Given the description of an element on the screen output the (x, y) to click on. 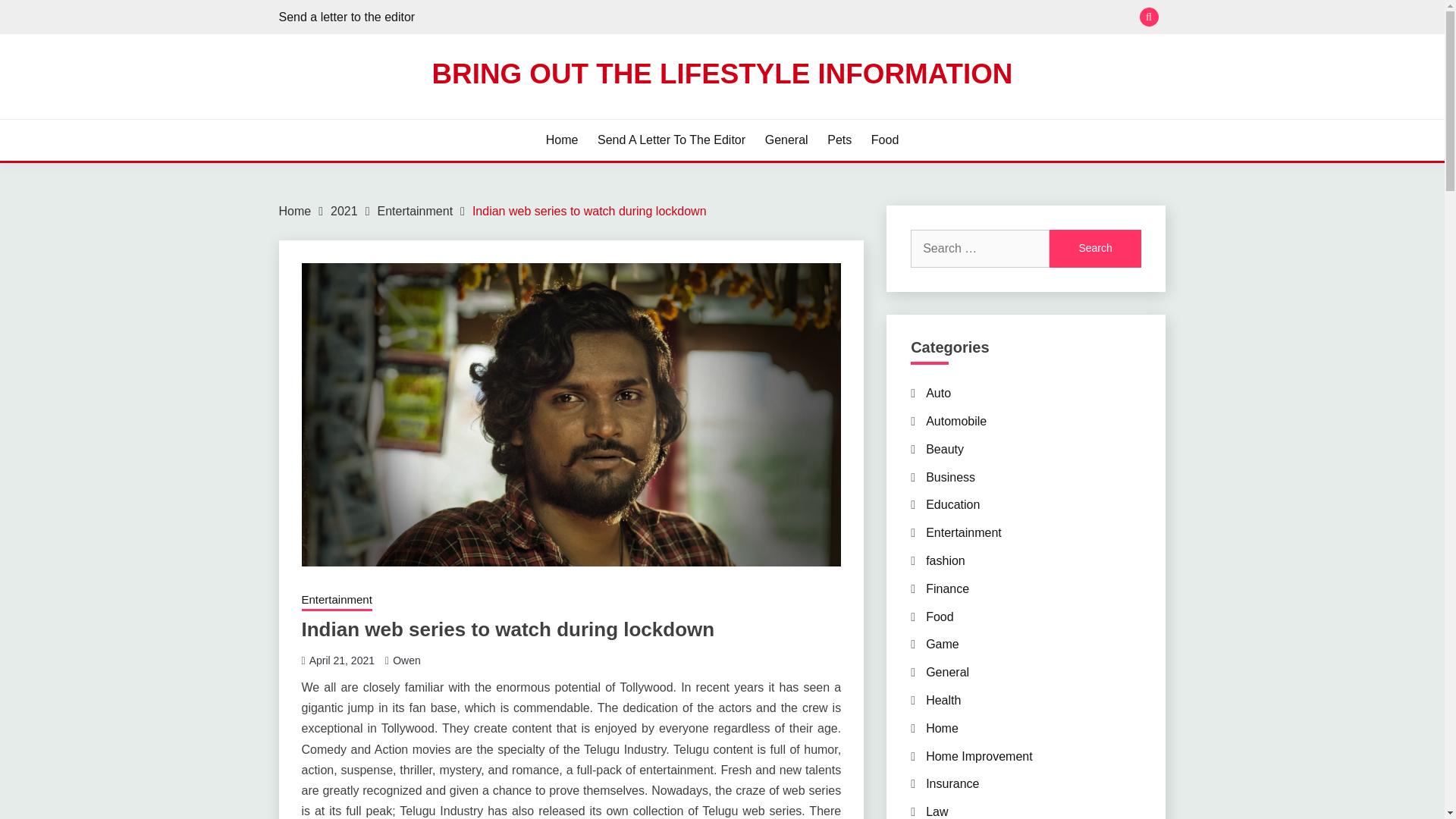
Entertainment (414, 210)
Search (832, 18)
Owen (406, 660)
Auto (938, 392)
Search (1095, 248)
General (786, 140)
Beauty (944, 449)
Entertainment (336, 600)
April 21, 2021 (341, 660)
Business (950, 477)
Home (562, 140)
Send a letter to the editor (346, 16)
Pets (839, 140)
Home (295, 210)
Search (1095, 248)
